Given the description of an element on the screen output the (x, y) to click on. 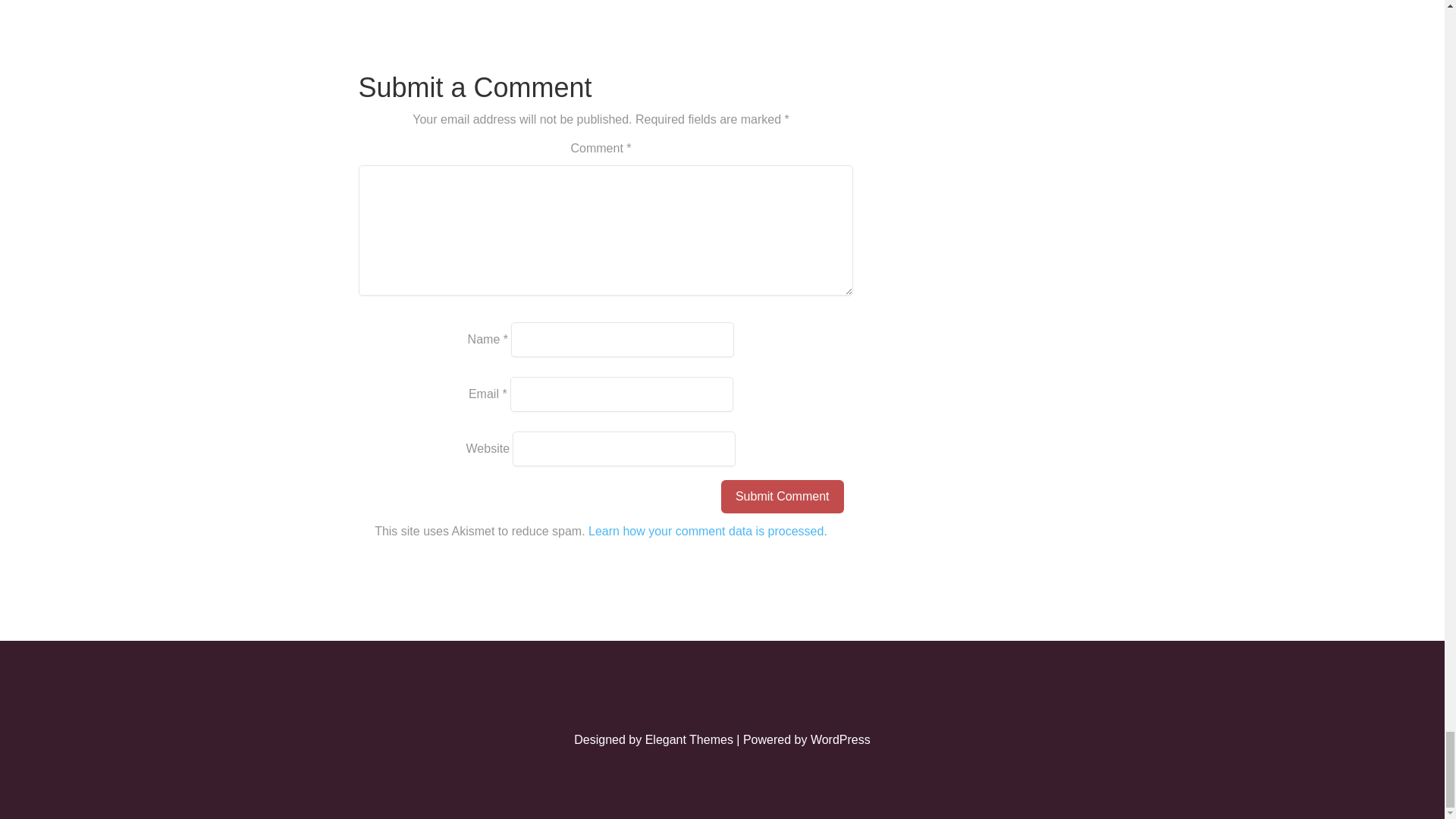
Submit Comment (782, 496)
Learn how your comment data is processed (706, 530)
Premium WordPress Themes (689, 739)
WordPress (840, 739)
Elegant Themes (689, 739)
Submit Comment (782, 496)
